Given the description of an element on the screen output the (x, y) to click on. 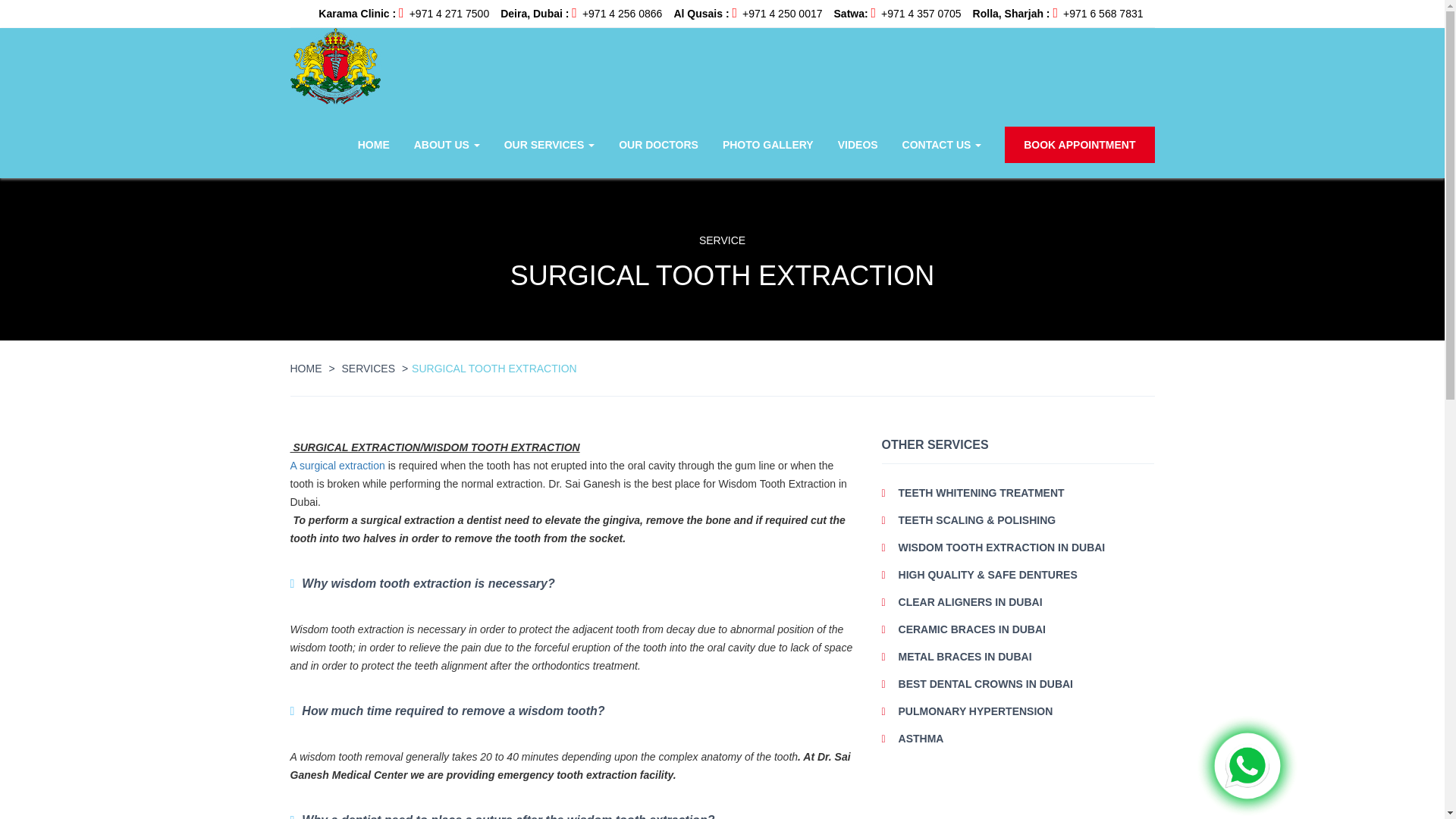
OUR DOCTORS (658, 144)
LAPAROSCOPIC SURGERY (620, 193)
OUR SERVICES (549, 144)
ABOUT US (491, 193)
ABOUT US (446, 144)
